Given the description of an element on the screen output the (x, y) to click on. 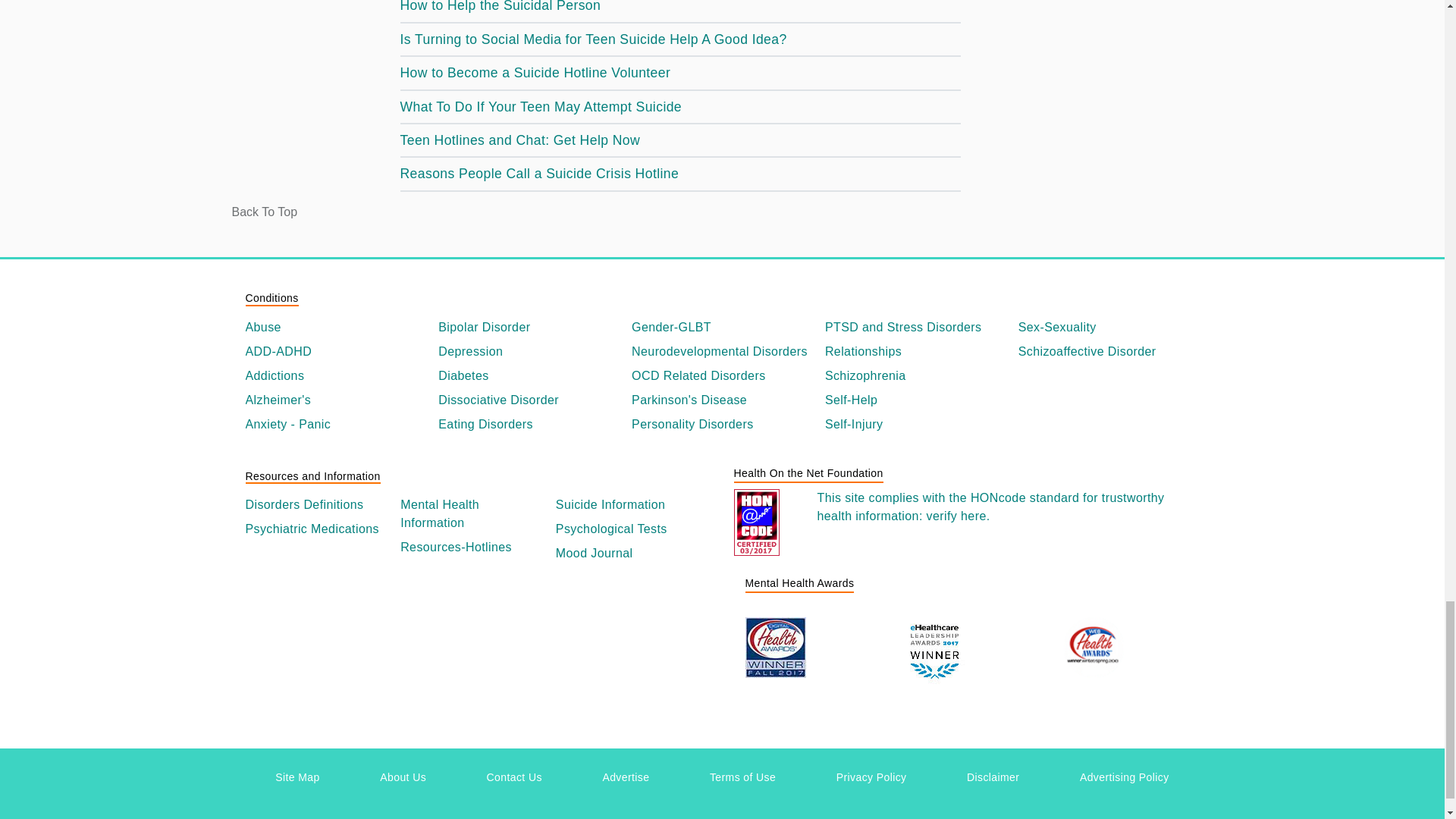
Parkinson's Disease Information Articles (721, 400)
